Given the description of an element on the screen output the (x, y) to click on. 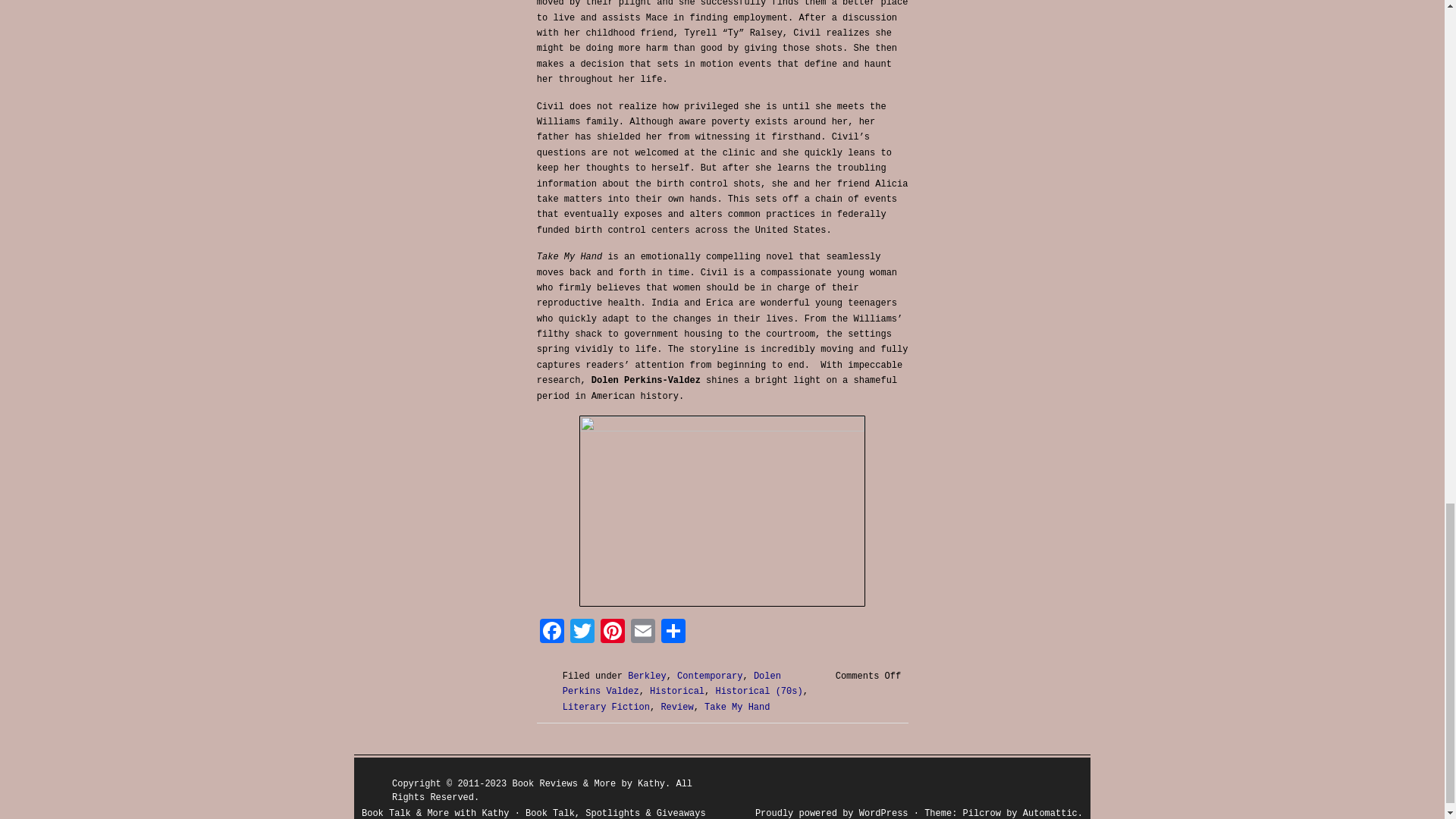
Historical (676, 691)
Twitter (581, 634)
Take My Hand (737, 706)
Berkley (646, 675)
Review (677, 706)
Literary Fiction (605, 706)
Share (673, 634)
Email (642, 634)
Pinterest (611, 634)
Pinterest (611, 634)
Contemporary (709, 675)
Twitter (581, 634)
Recommended Read (721, 510)
Facebook (552, 634)
Dolen Perkins Valdez (671, 683)
